Given the description of an element on the screen output the (x, y) to click on. 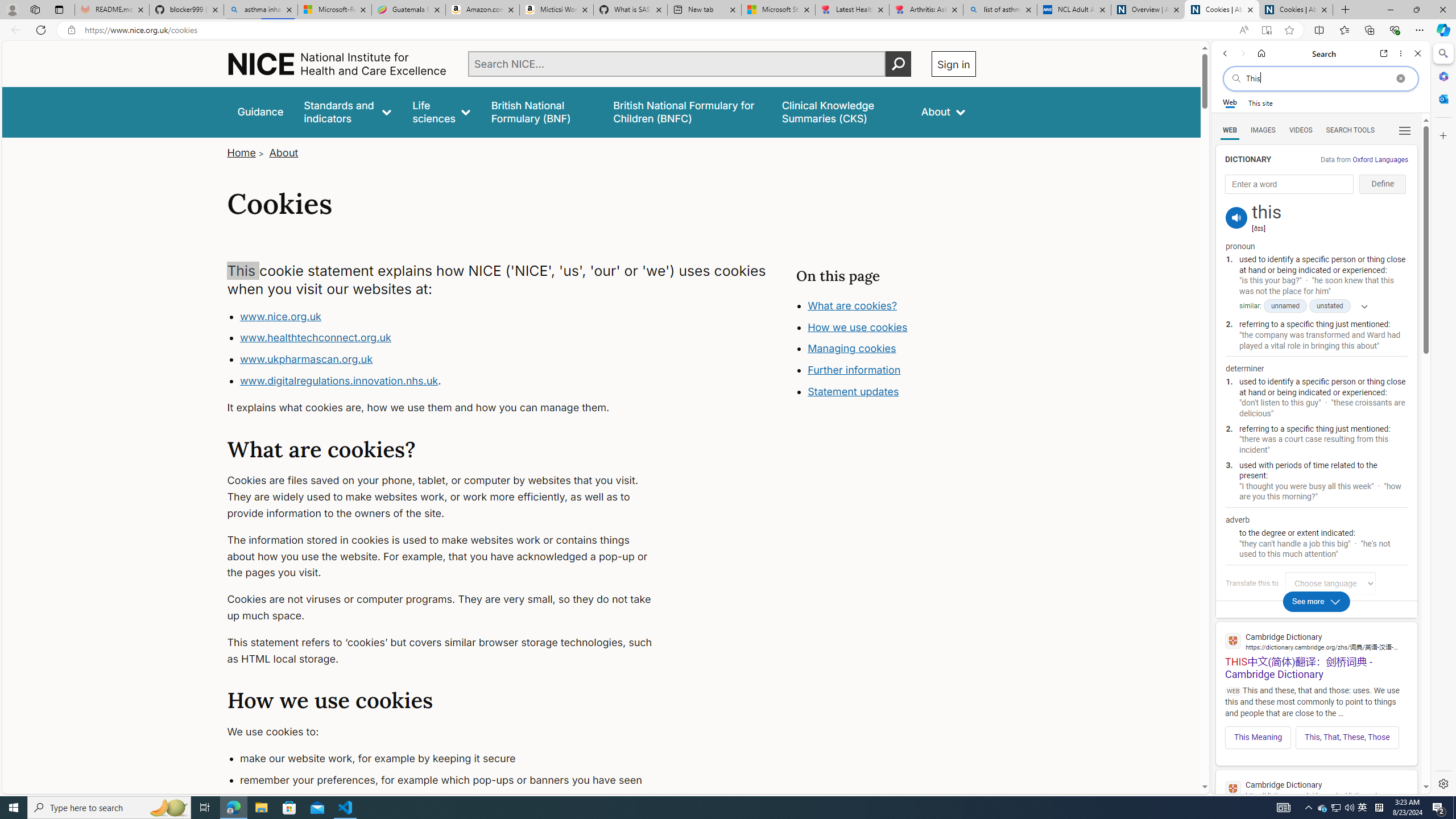
www.ukpharmascan.org.uk (452, 359)
Managing cookies (852, 348)
Life sciences (440, 111)
Life sciences (440, 111)
